Given the description of an element on the screen output the (x, y) to click on. 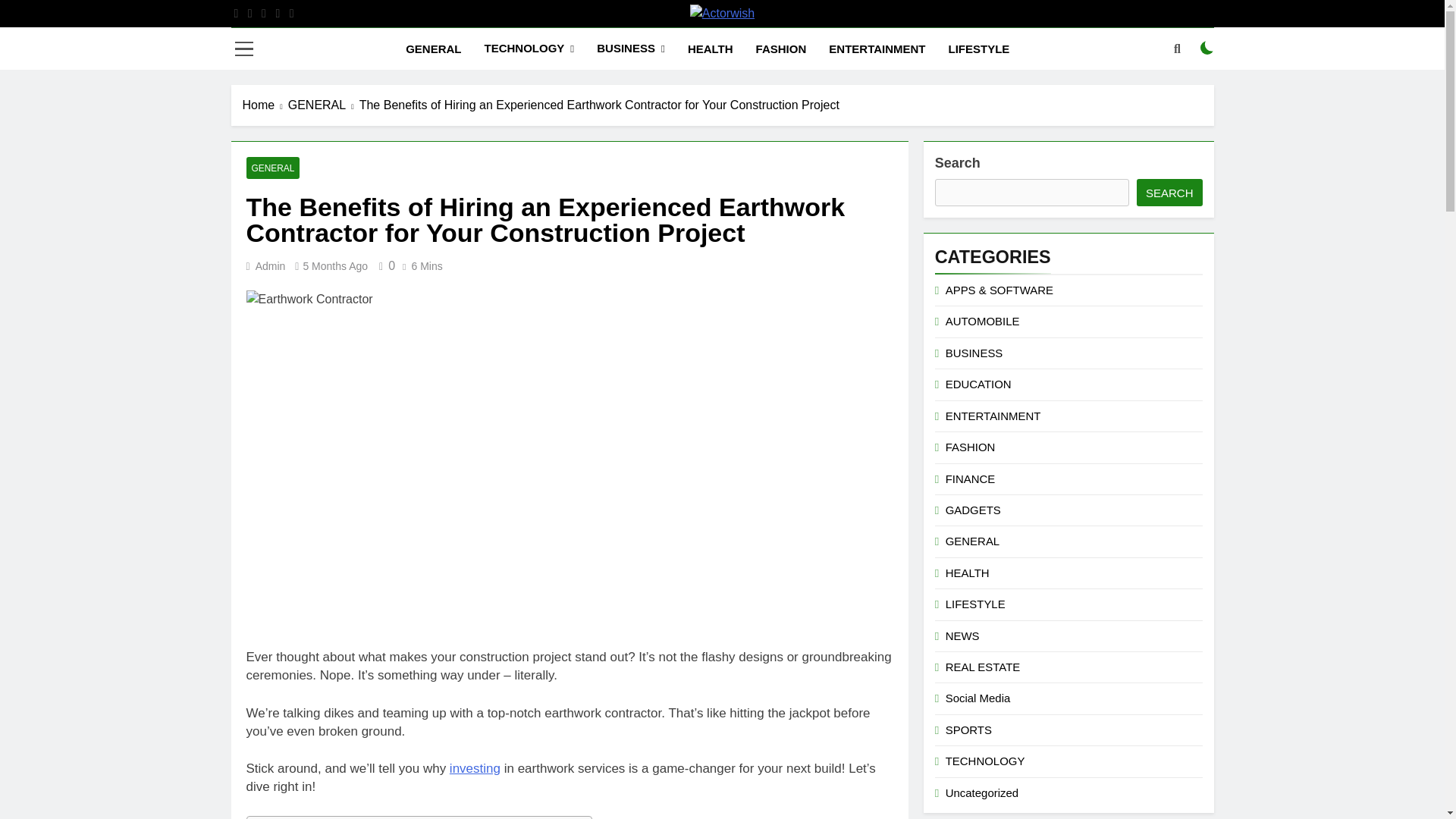
GENERAL (323, 105)
Actorwish (555, 39)
Home (265, 105)
5 Months Ago (335, 265)
BUSINESS (631, 48)
LIFESTYLE (979, 48)
GENERAL (272, 168)
0 (384, 265)
TECHNOLOGY (528, 48)
HEALTH (710, 48)
ENTERTAINMENT (876, 48)
Admin (270, 265)
FASHION (781, 48)
GENERAL (432, 48)
investing (474, 768)
